Given the description of an element on the screen output the (x, y) to click on. 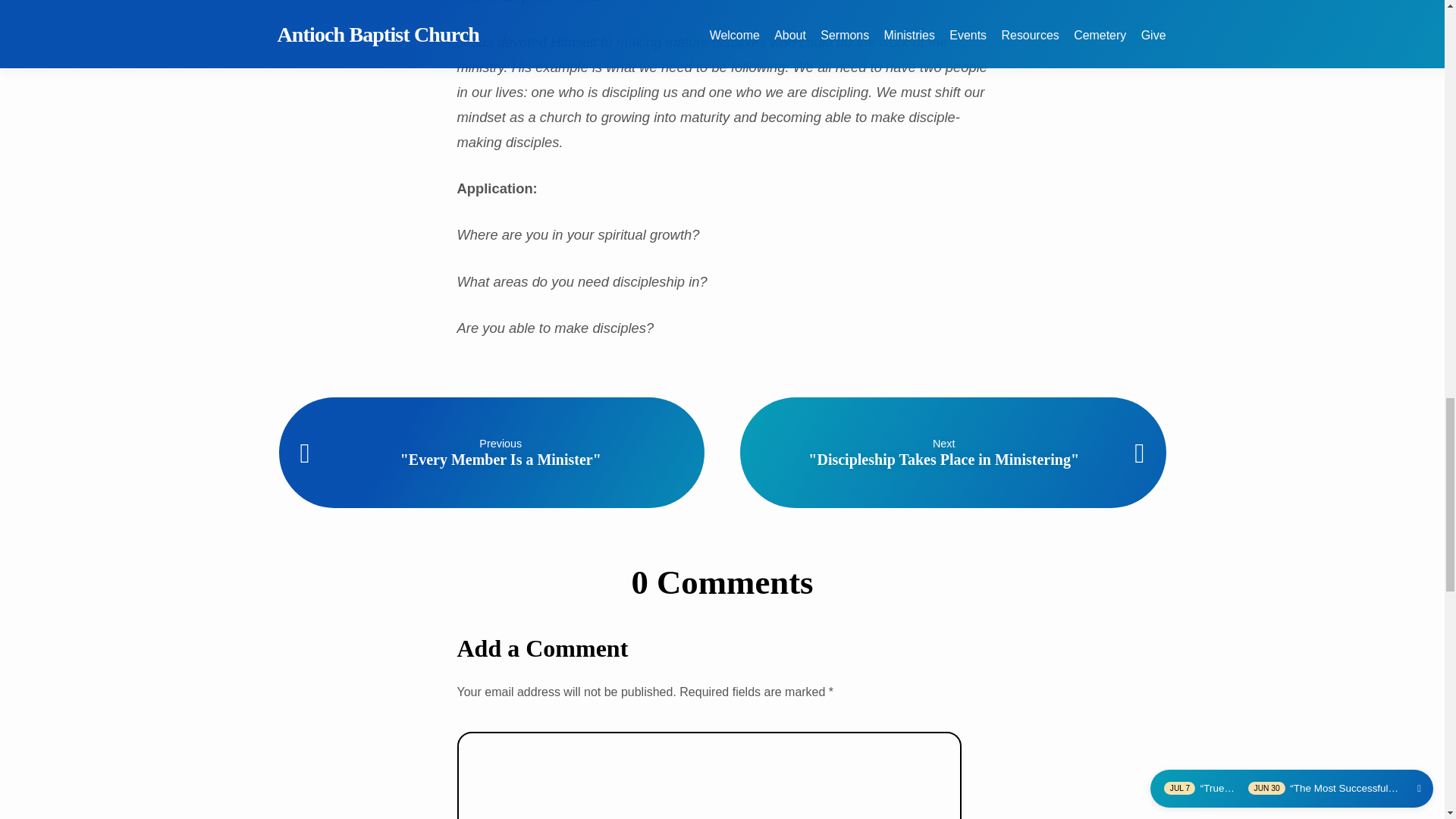
"Discipleship Takes Place in Ministering" (943, 459)
"Every Member Is a Minister" (500, 459)
